Given the description of an element on the screen output the (x, y) to click on. 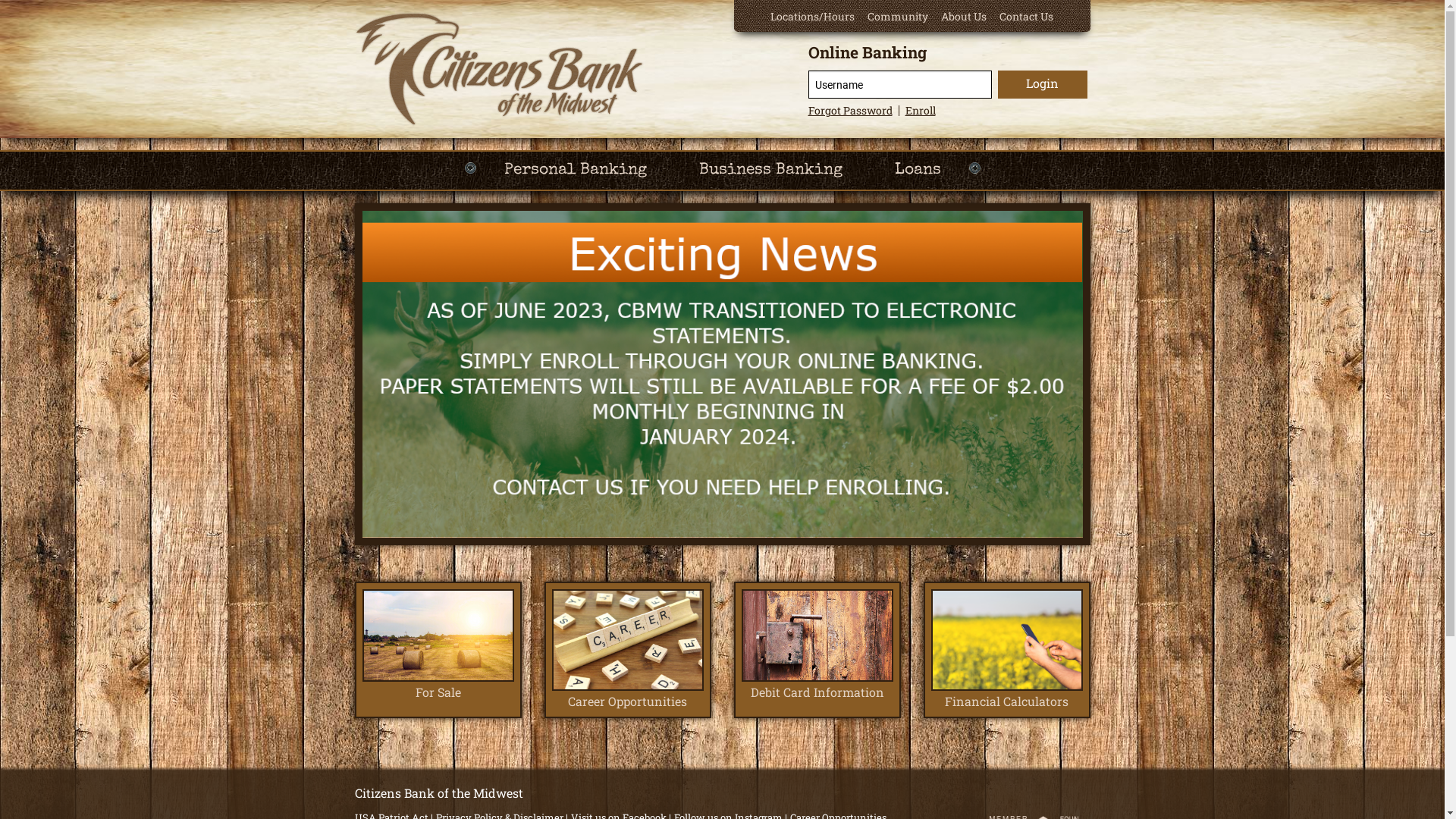
For Sale Element type: text (438, 645)
Debit Card Information Element type: text (817, 645)
About Us Element type: text (963, 16)
Business Banking Element type: text (770, 170)
Contact Us Element type: text (1026, 16)
Career Opportunities Element type: text (627, 649)
Login Element type: text (1041, 84)
Financial Calculators Element type: text (1006, 649)
Personal Banking Element type: text (574, 170)
Community Element type: text (897, 16)
Forgot Password Element type: text (850, 110)
Loans Element type: text (917, 170)
Locations/Hours Element type: text (812, 16)
Enroll Element type: text (920, 110)
